Given the description of an element on the screen output the (x, y) to click on. 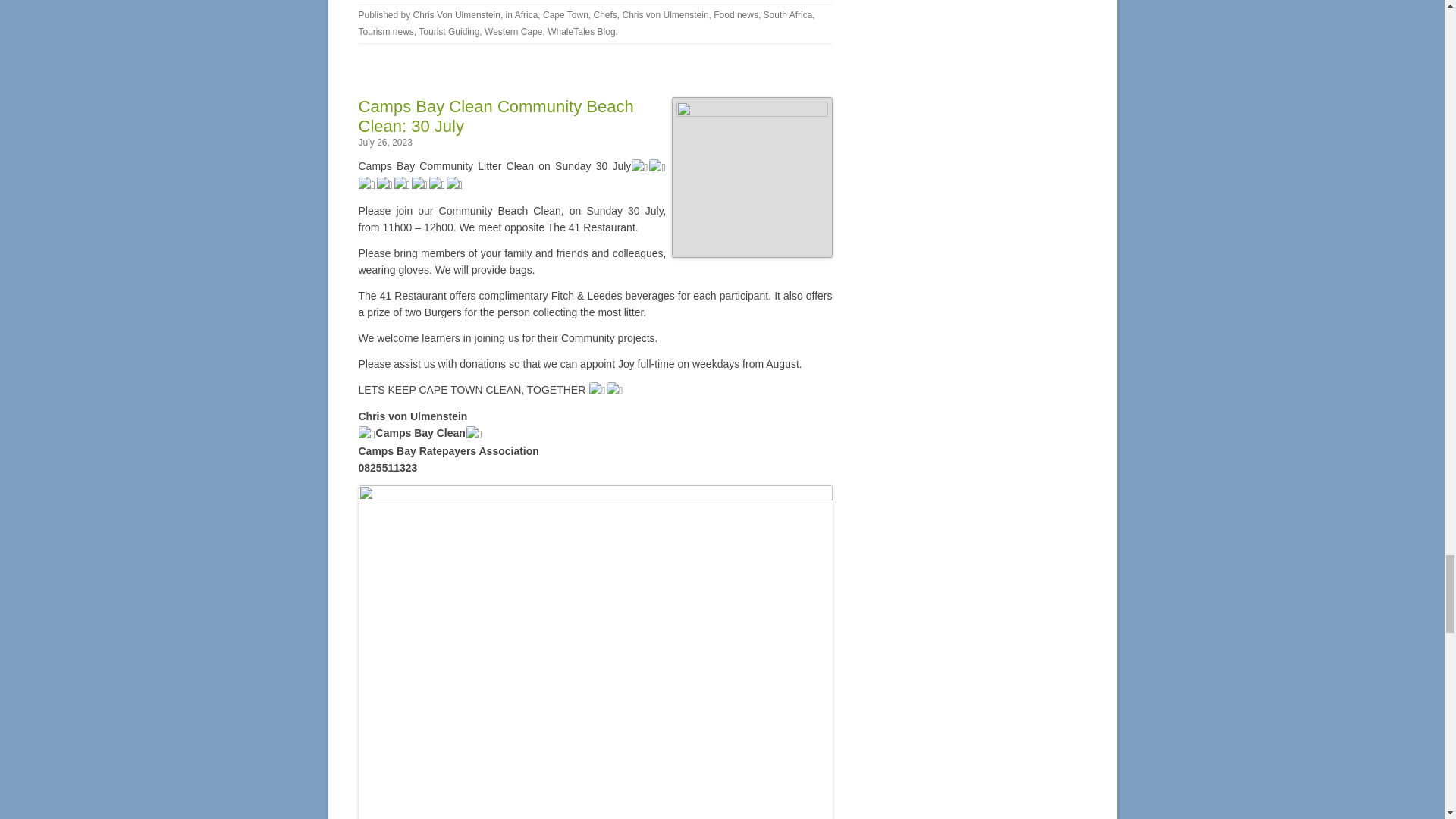
Tourism news (385, 31)
Camps Bay Clean Community Beach Clean: 30 July (495, 116)
WhaleTales Blog (580, 31)
Chris Von Ulmenstein (456, 14)
July 26, 2023 (385, 142)
Chefs (603, 14)
Cape Town (565, 14)
Africa (526, 14)
Permalink to Camps Bay Clean Community Beach Clean: 30 July (495, 116)
View all posts by Chris Von Ulmenstein (456, 14)
